Given the description of an element on the screen output the (x, y) to click on. 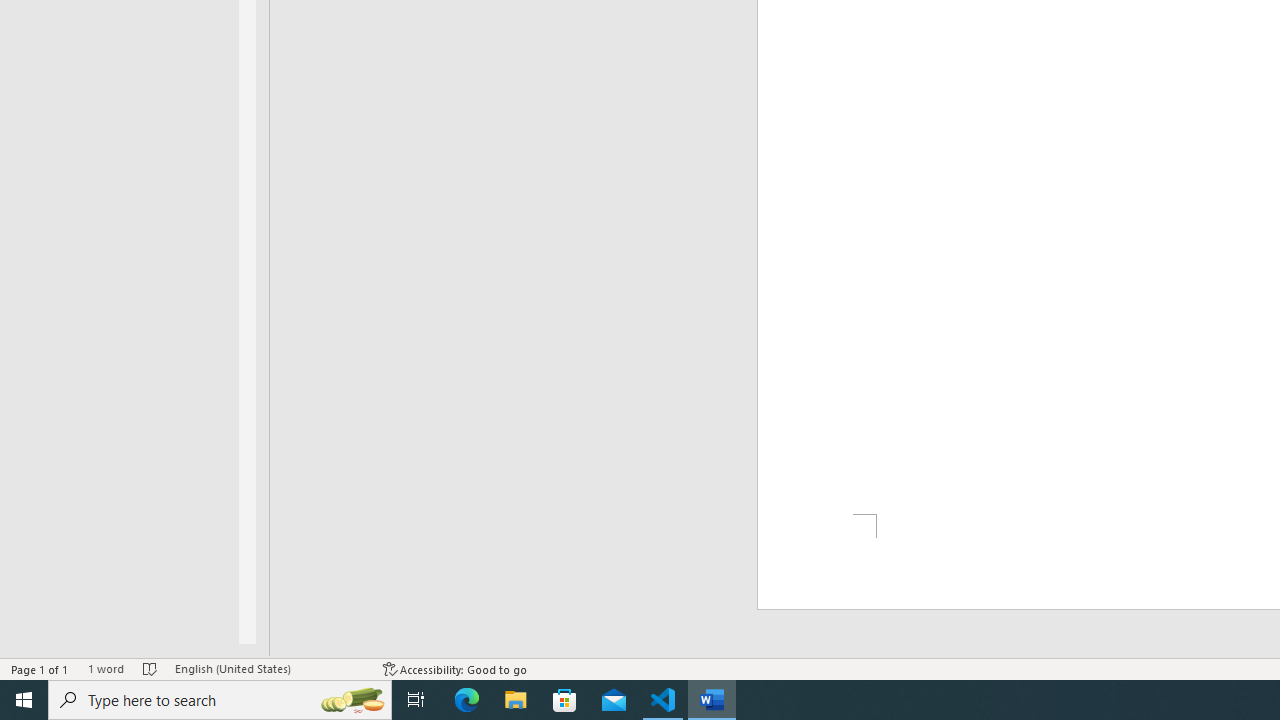
Page Number Page 1 of 1 (39, 668)
Spelling and Grammar Check No Errors (150, 668)
